Given the description of an element on the screen output the (x, y) to click on. 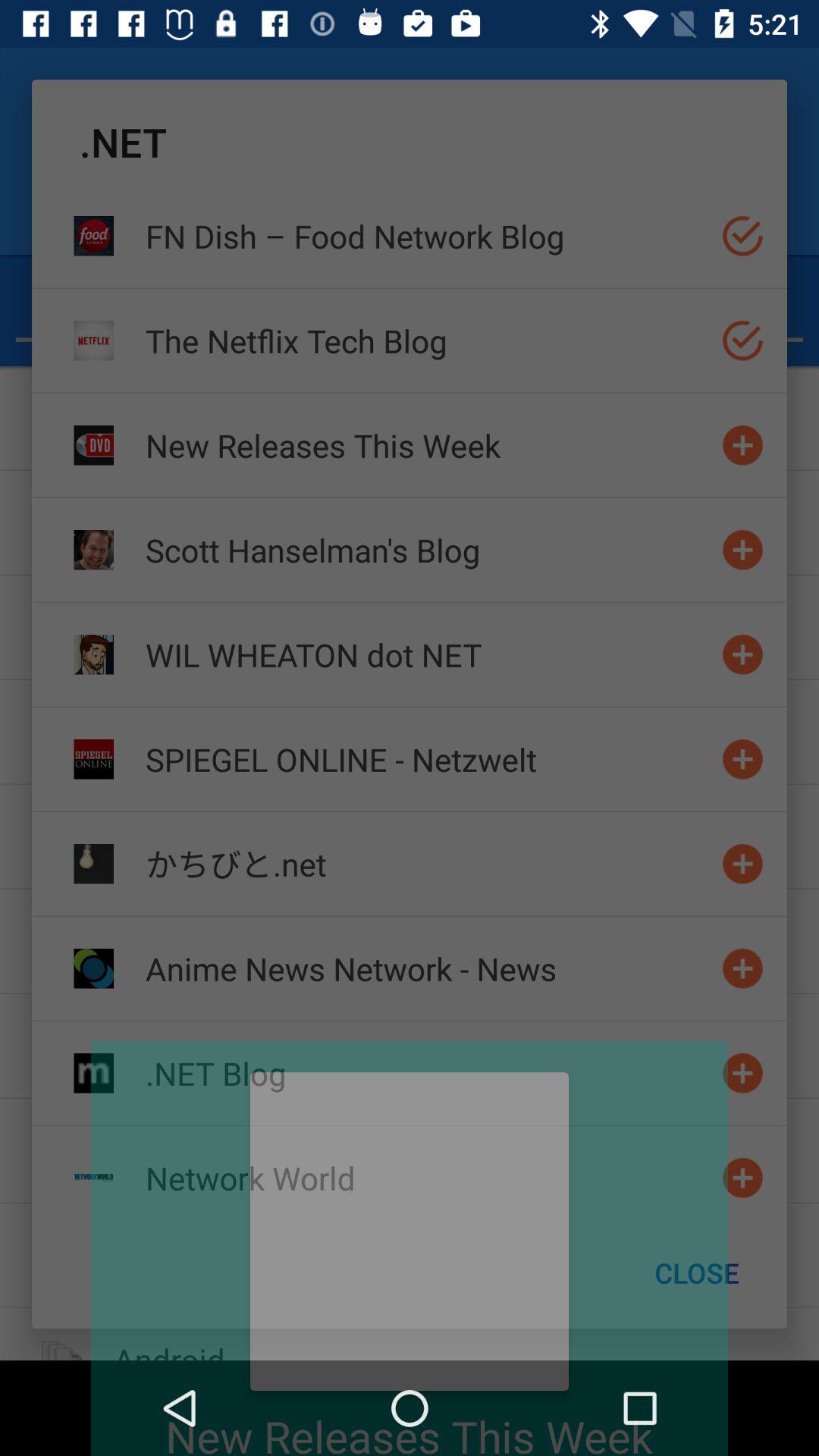
go do selgt (742, 235)
